Given the description of an element on the screen output the (x, y) to click on. 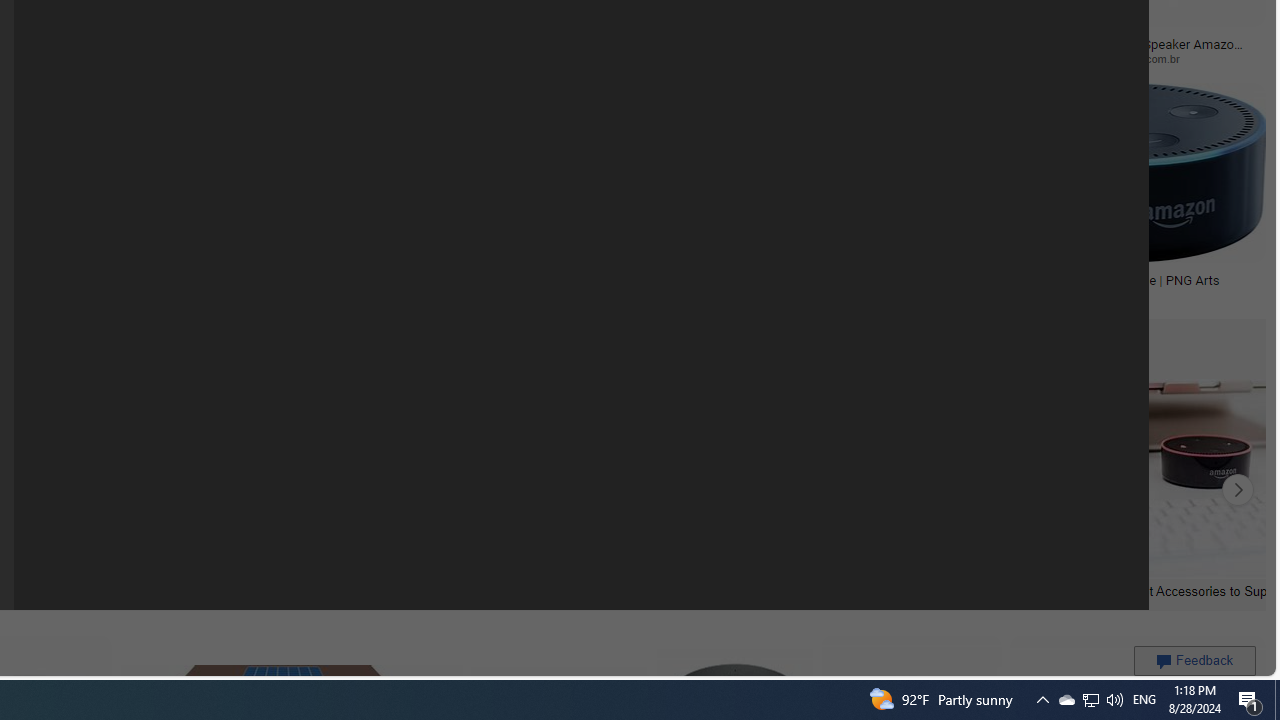
pnghq.com (741, 294)
pngkey.com (258, 58)
currys.co.uk (559, 294)
winmaec.com (705, 57)
amazon.com.mx (538, 58)
Alexa Dot Transparent Image | PNG Arts (1123, 279)
